Given the description of an element on the screen output the (x, y) to click on. 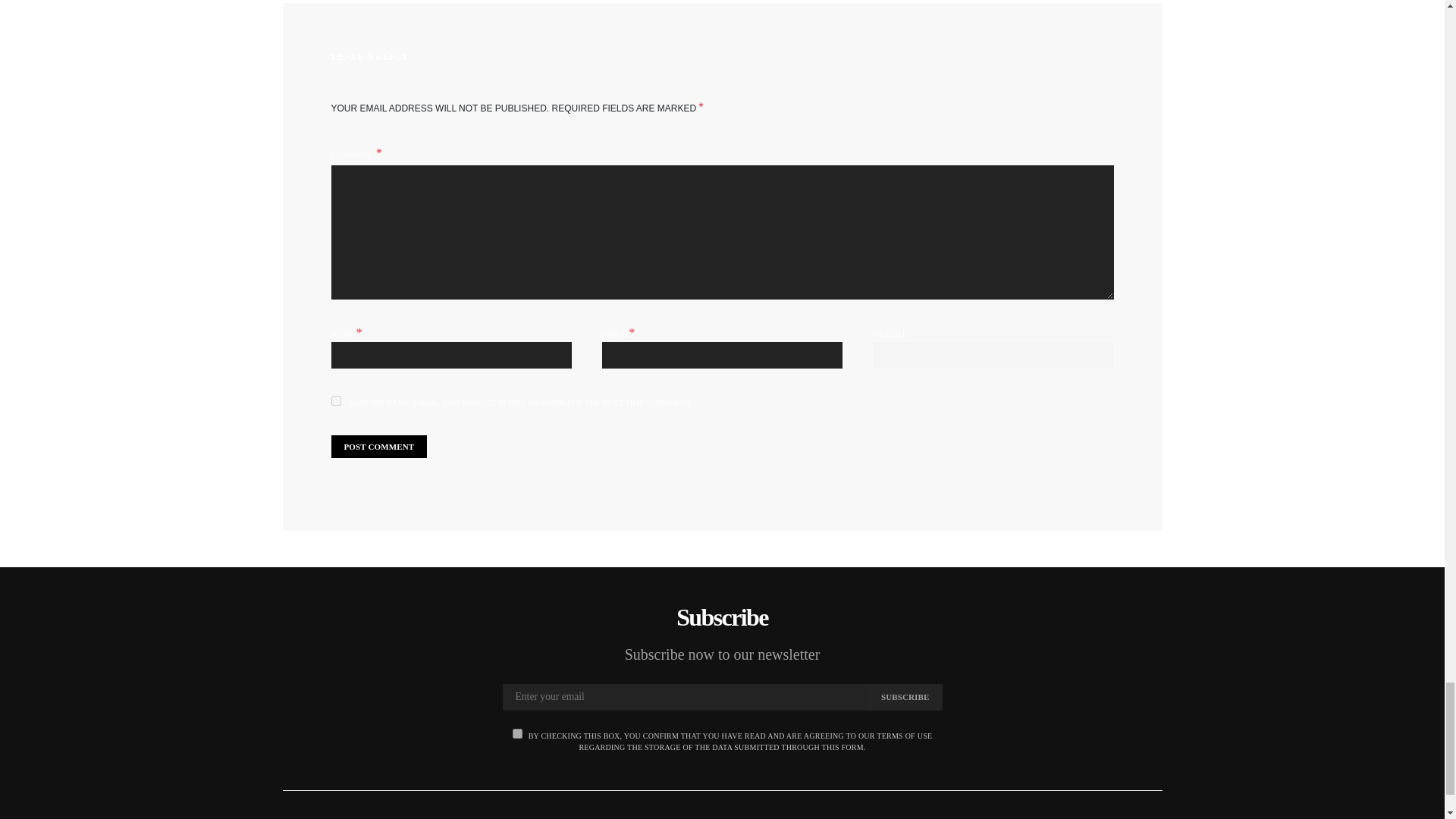
Post Comment (378, 446)
on (517, 733)
yes (335, 400)
